Given the description of an element on the screen output the (x, y) to click on. 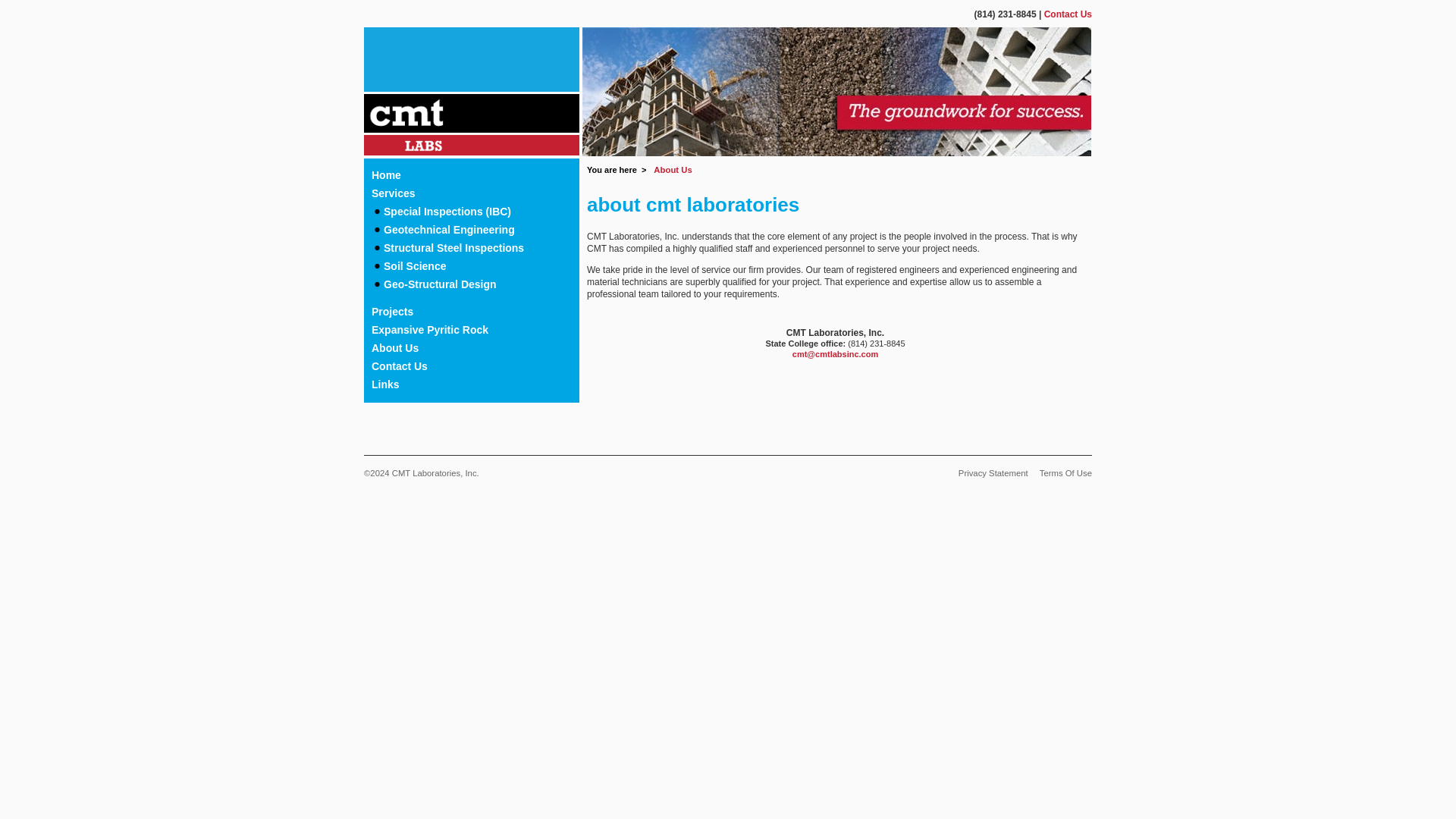
Structural Steel Inspections (475, 248)
Projects (475, 311)
Services (475, 193)
Contact Us (475, 366)
Expansive Pyritic Rock (475, 330)
About Us (672, 169)
About Us (475, 348)
Terms Of Use (1059, 472)
Links (475, 384)
Geotechnical Engineering (475, 229)
Contact Us (1067, 14)
Geo-Structural Design (475, 284)
Home (475, 175)
Privacy Statement (987, 472)
Soil Science (475, 266)
